Given the description of an element on the screen output the (x, y) to click on. 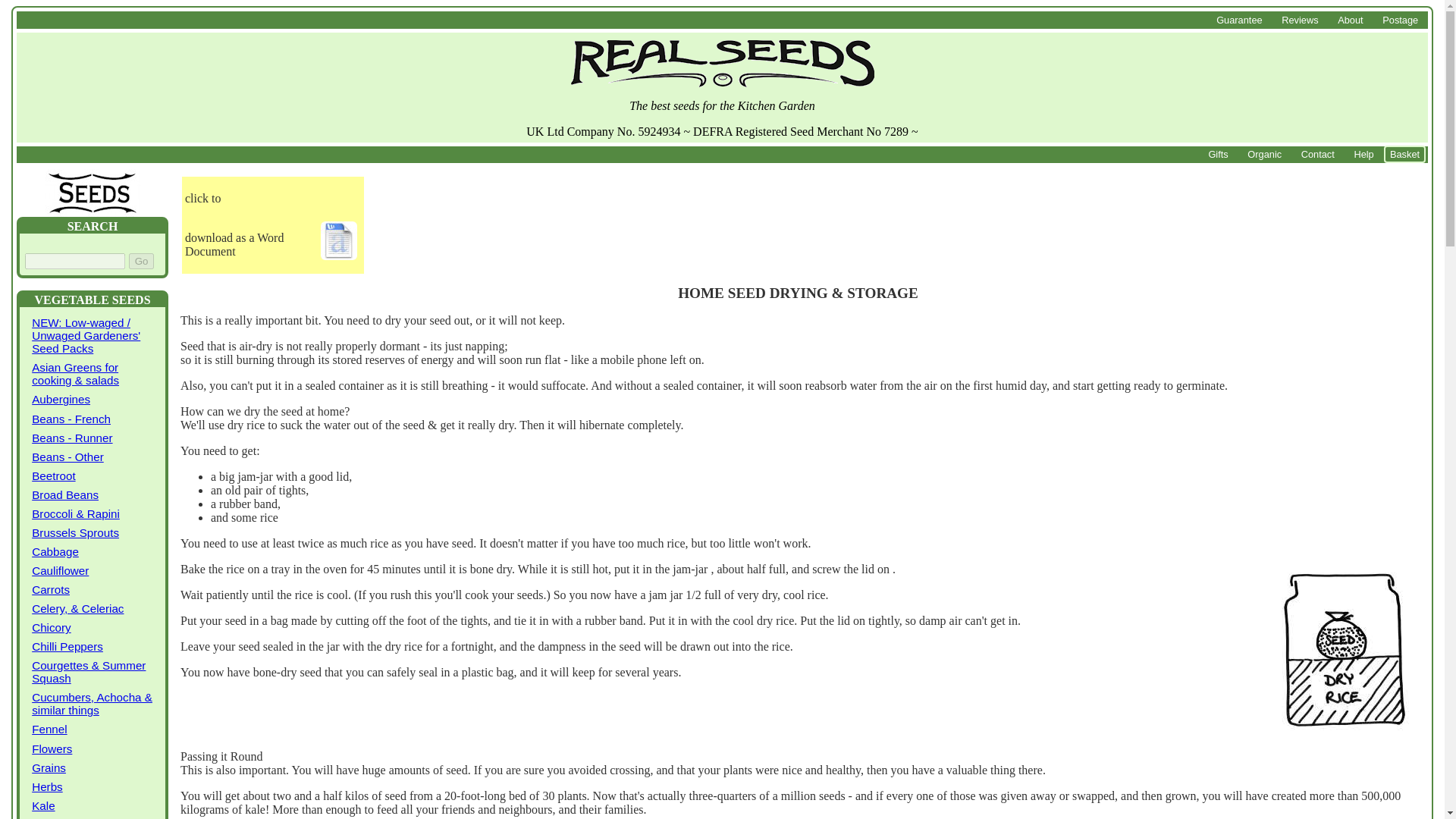
Help (1363, 153)
Fennel (93, 728)
Brussels Sprouts (93, 532)
Organic (1265, 153)
Kohl Rabi (93, 816)
Aubergines (93, 398)
Guarantee (1239, 19)
Broad Beans (93, 494)
Beans - Other (93, 456)
Flowers (93, 747)
Beans - French (93, 418)
Postage (1400, 19)
Go (141, 261)
Carrots (93, 588)
Gifts (1218, 153)
